Given the description of an element on the screen output the (x, y) to click on. 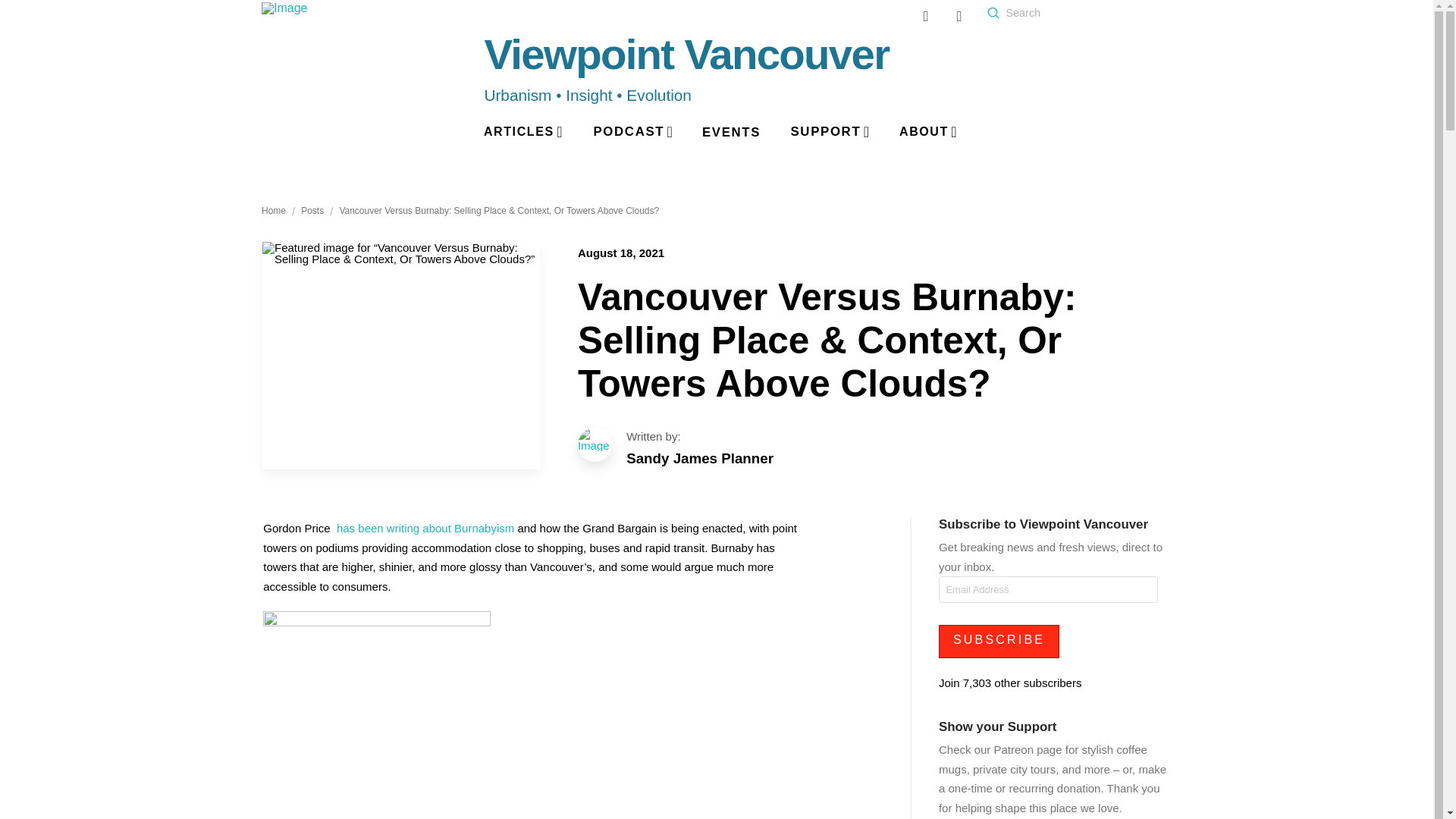
Submit (992, 12)
has been writing about Burnabyism (874, 436)
EVENTS (426, 527)
You Are Here (730, 134)
Posts (499, 211)
Home (312, 211)
